Given the description of an element on the screen output the (x, y) to click on. 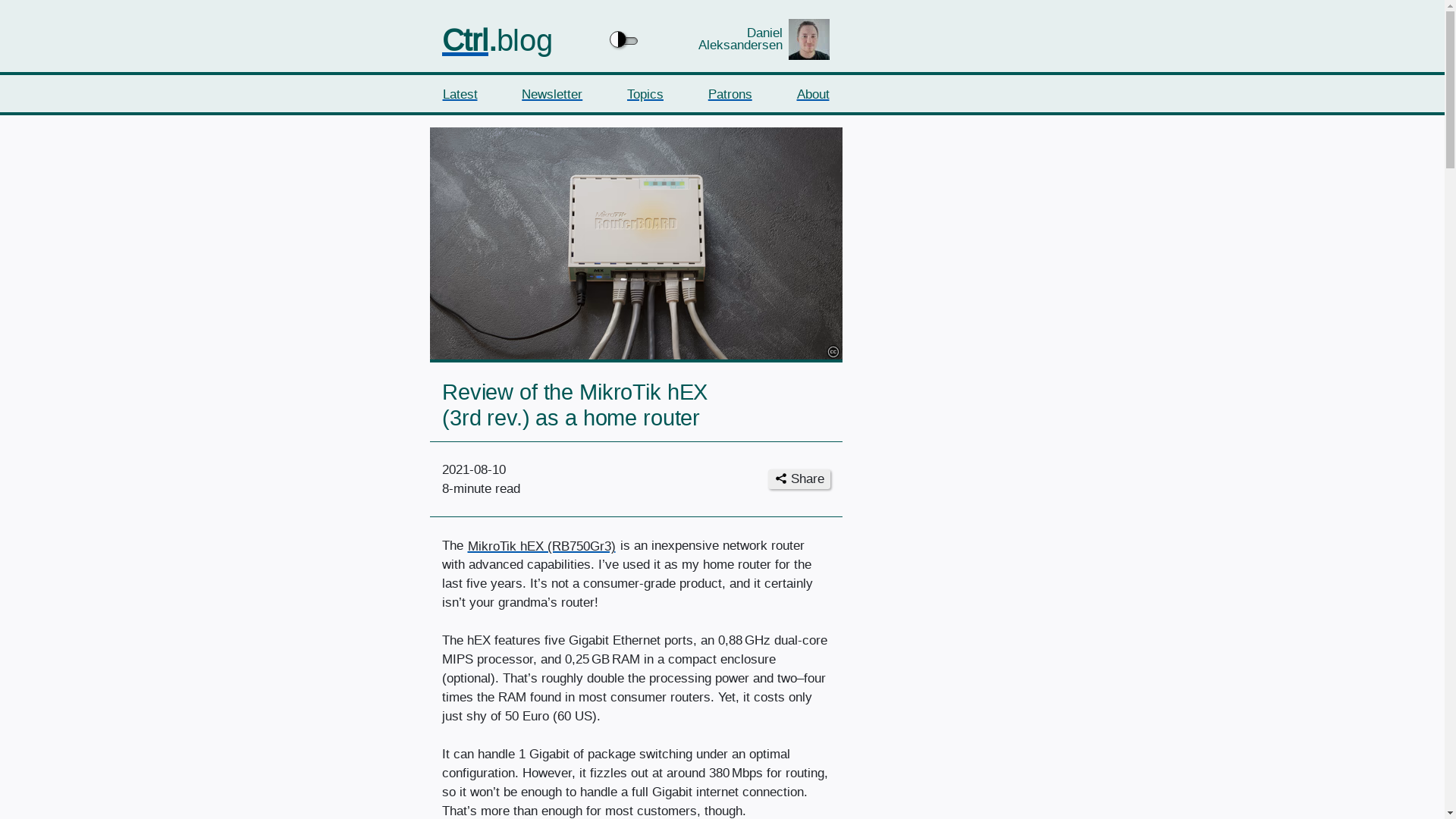
Ctrl.blog (496, 39)
Share (798, 478)
About (812, 93)
Patrons (729, 93)
Newsletter (552, 93)
Latest (459, 93)
2021-08-10 13:28 UTC (473, 469)
Share article via AddToAny (798, 478)
on (624, 40)
Topics (644, 93)
